Given the description of an element on the screen output the (x, y) to click on. 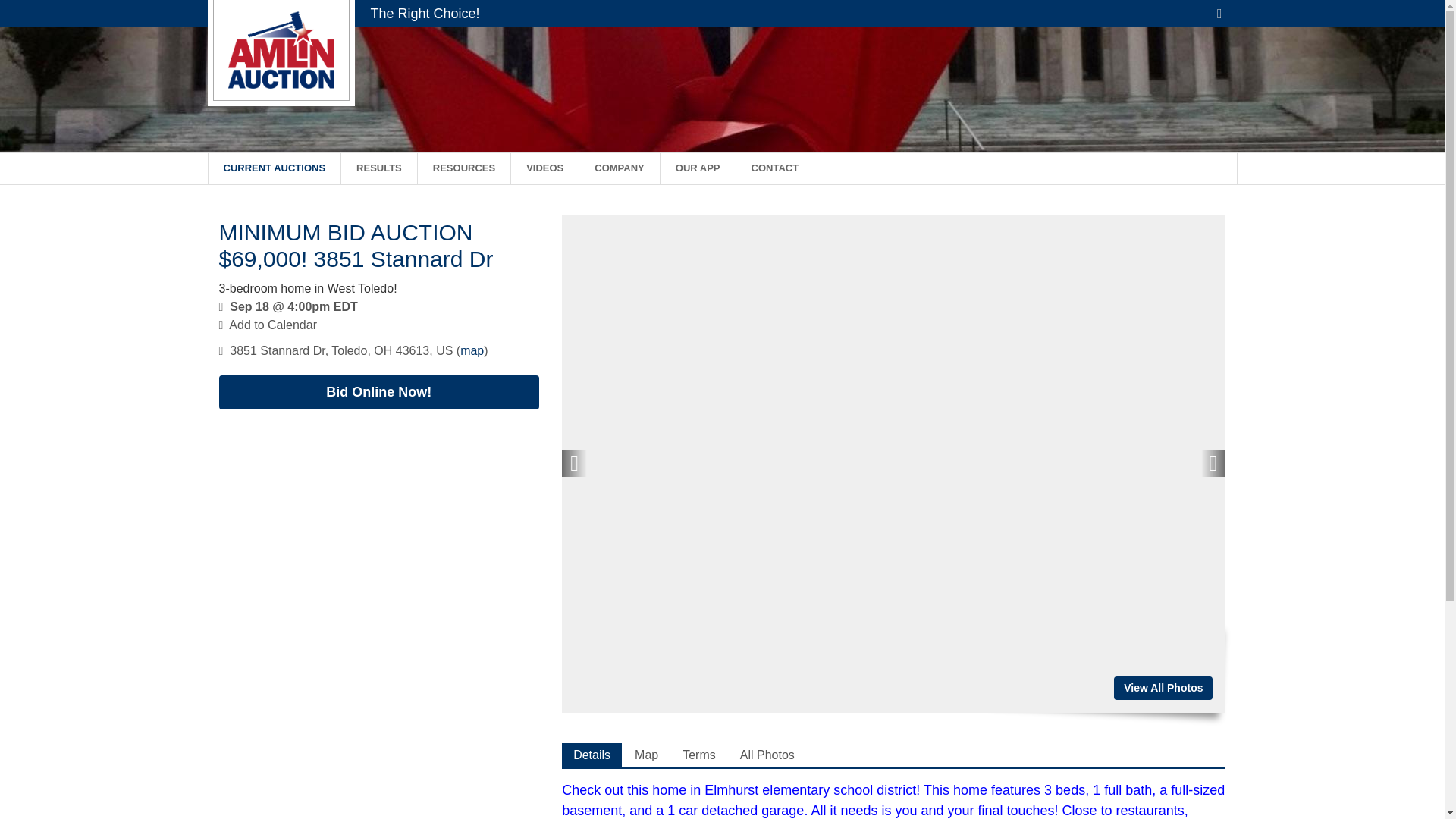
Company (619, 168)
CURRENT AUCTIONS (274, 168)
Bid Online Now! (378, 392)
Contact (775, 168)
3851 Stannard Dr, Toledo, OH 43613, US (341, 350)
Terms (698, 755)
Add this auction to your calendar (272, 324)
CONTACT (775, 168)
Bid Online Now! (378, 392)
Details (591, 755)
Map (646, 755)
OUR APP (698, 168)
Add to Calendar (272, 324)
Current Auctions (274, 168)
Details (591, 755)
